Given the description of an element on the screen output the (x, y) to click on. 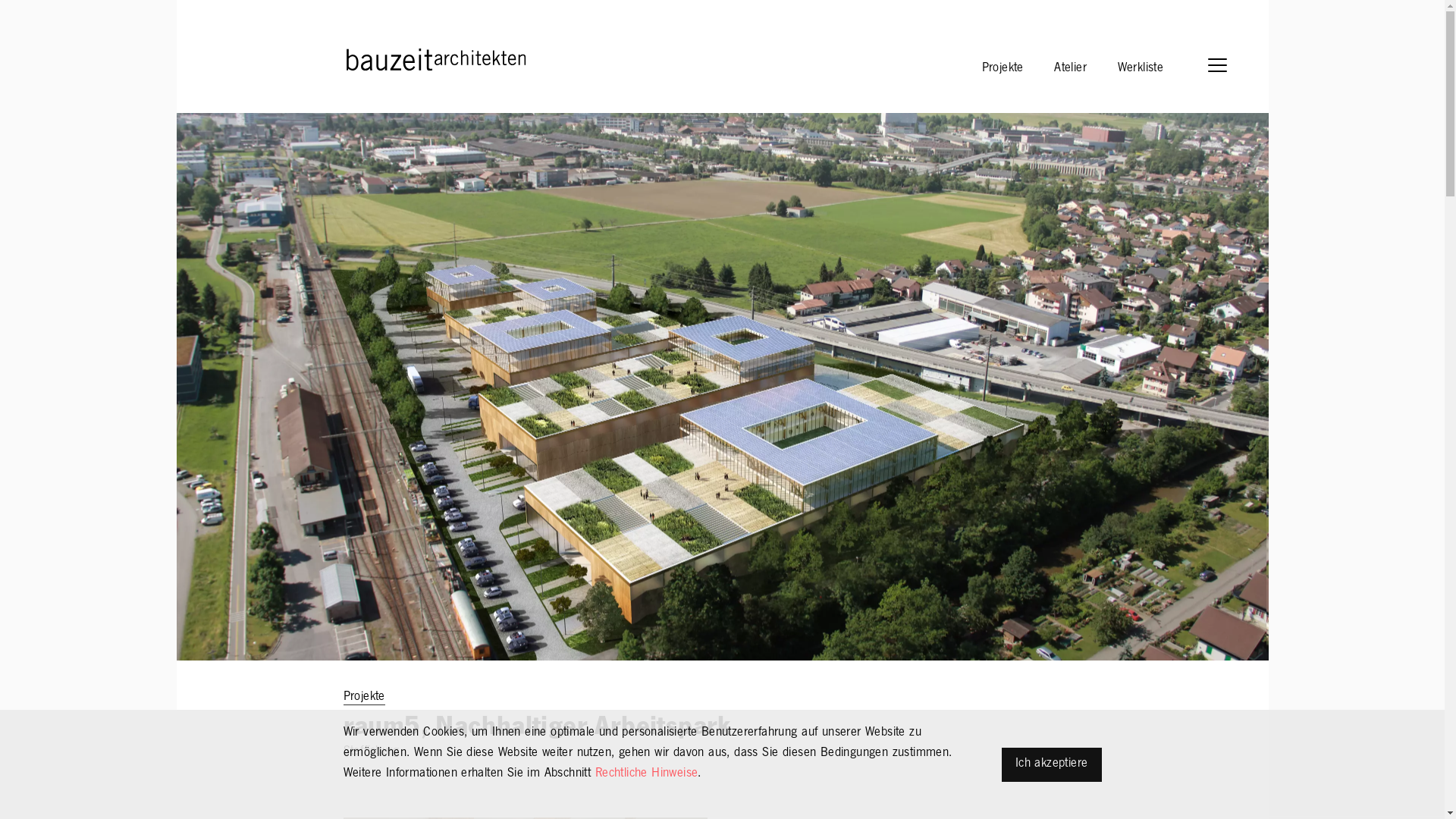
Homepage bauzeit-architekten Element type: hover (368, 58)
Steffisburg Element type: text (370, 752)
Atelier Element type: text (1070, 67)
Projekte Element type: text (1001, 67)
Projekte Element type: text (363, 697)
raum5, Nachhaltiger Arbeitspark Element type: hover (721, 657)
Rechtliche Hinweise Element type: text (646, 774)
Werkliste Element type: text (1140, 67)
raum5, Nachhaltiger Arbeitspark Element type: text (536, 729)
